Given the description of an element on the screen output the (x, y) to click on. 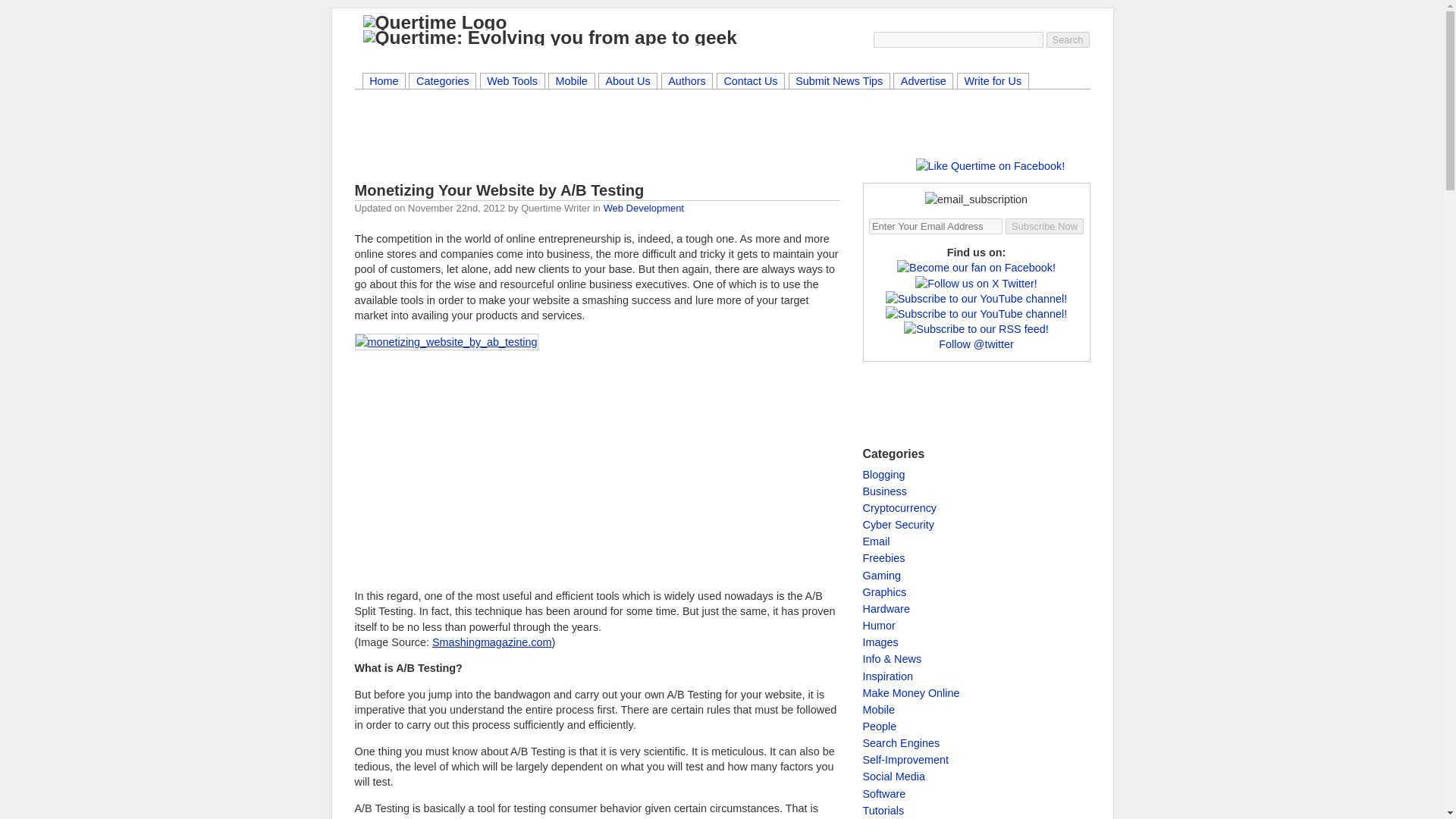
Authors (687, 82)
Categories (442, 82)
Subscribe Now (1044, 226)
Submit News Tips (838, 82)
Home (383, 82)
Get daily articles for free. (975, 199)
Write for Us (992, 82)
Web Tools (512, 82)
Like Quertime on Facebook! (987, 165)
Quertime Logo (434, 22)
Blogging (884, 474)
Cryptocurrency (900, 508)
Search (1067, 39)
Advertise (922, 82)
Subscribe Now (1044, 226)
